Given the description of an element on the screen output the (x, y) to click on. 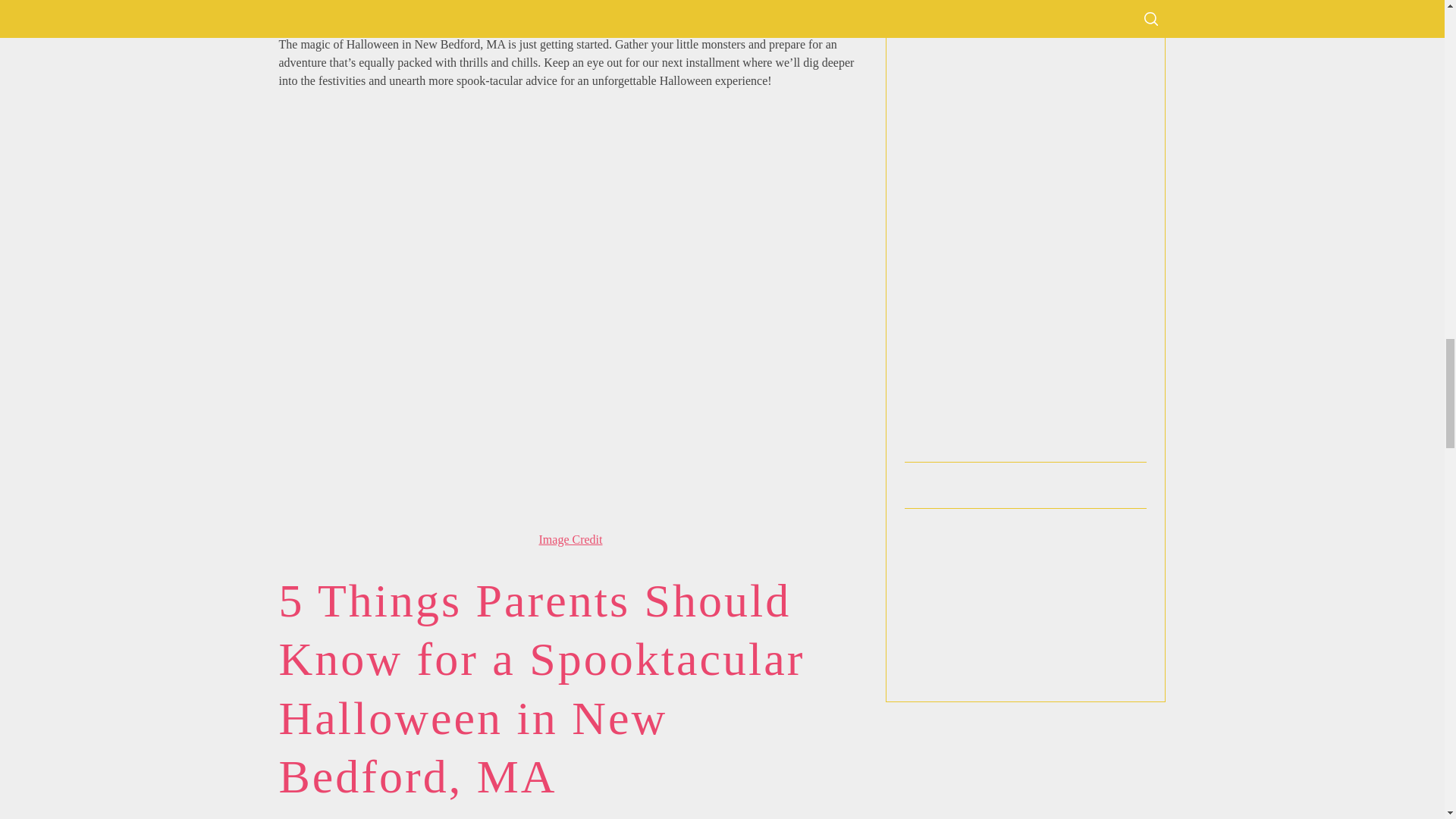
Image Credit (570, 539)
